Given the description of an element on the screen output the (x, y) to click on. 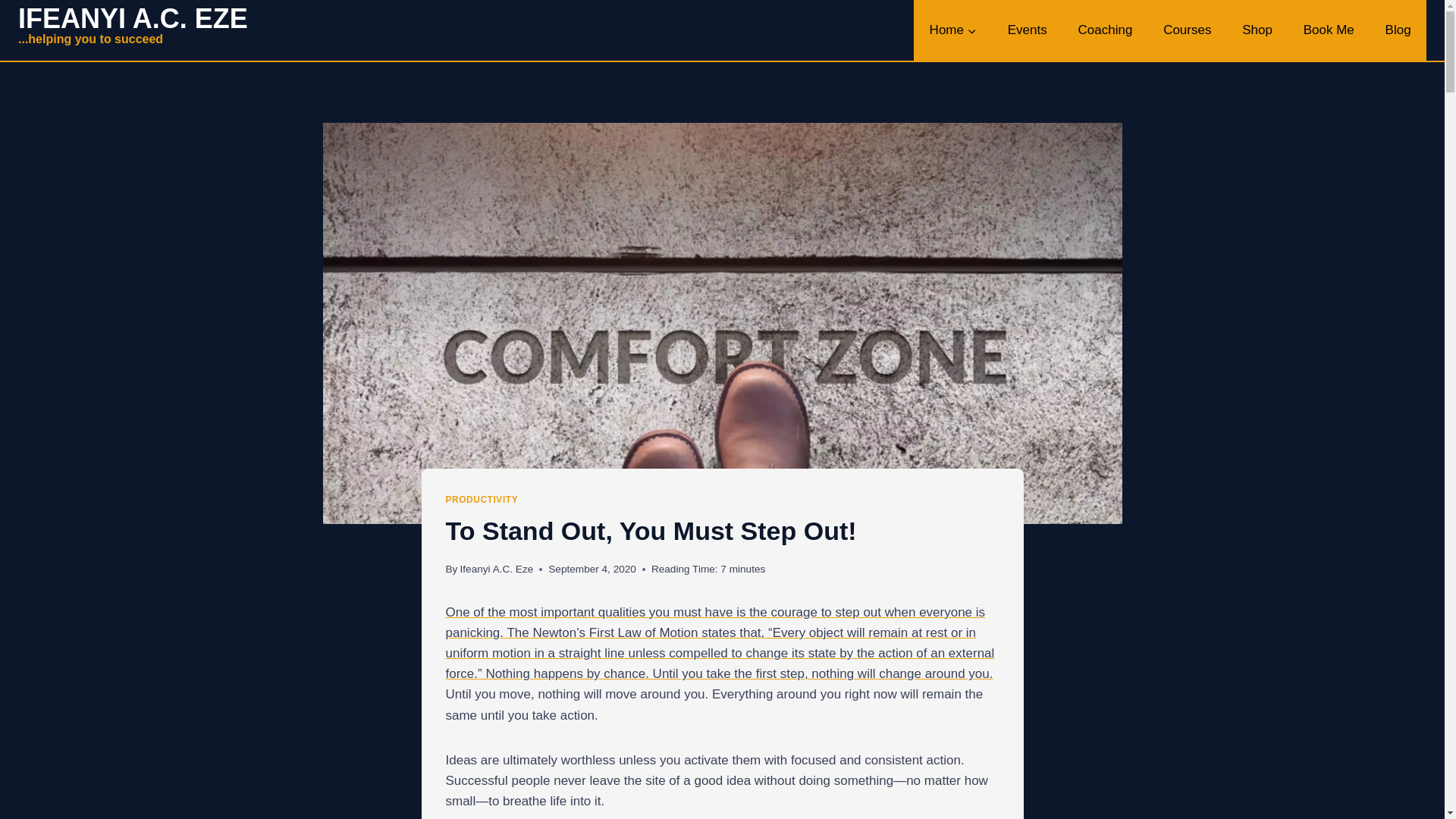
Home (952, 30)
Shop (1257, 30)
Coaching (1105, 30)
Events (1026, 30)
Book Me (132, 29)
PRODUCTIVITY (1328, 30)
Blog (481, 499)
Ifeanyi A.C. Eze (1398, 30)
Courses (497, 568)
